Given the description of an element on the screen output the (x, y) to click on. 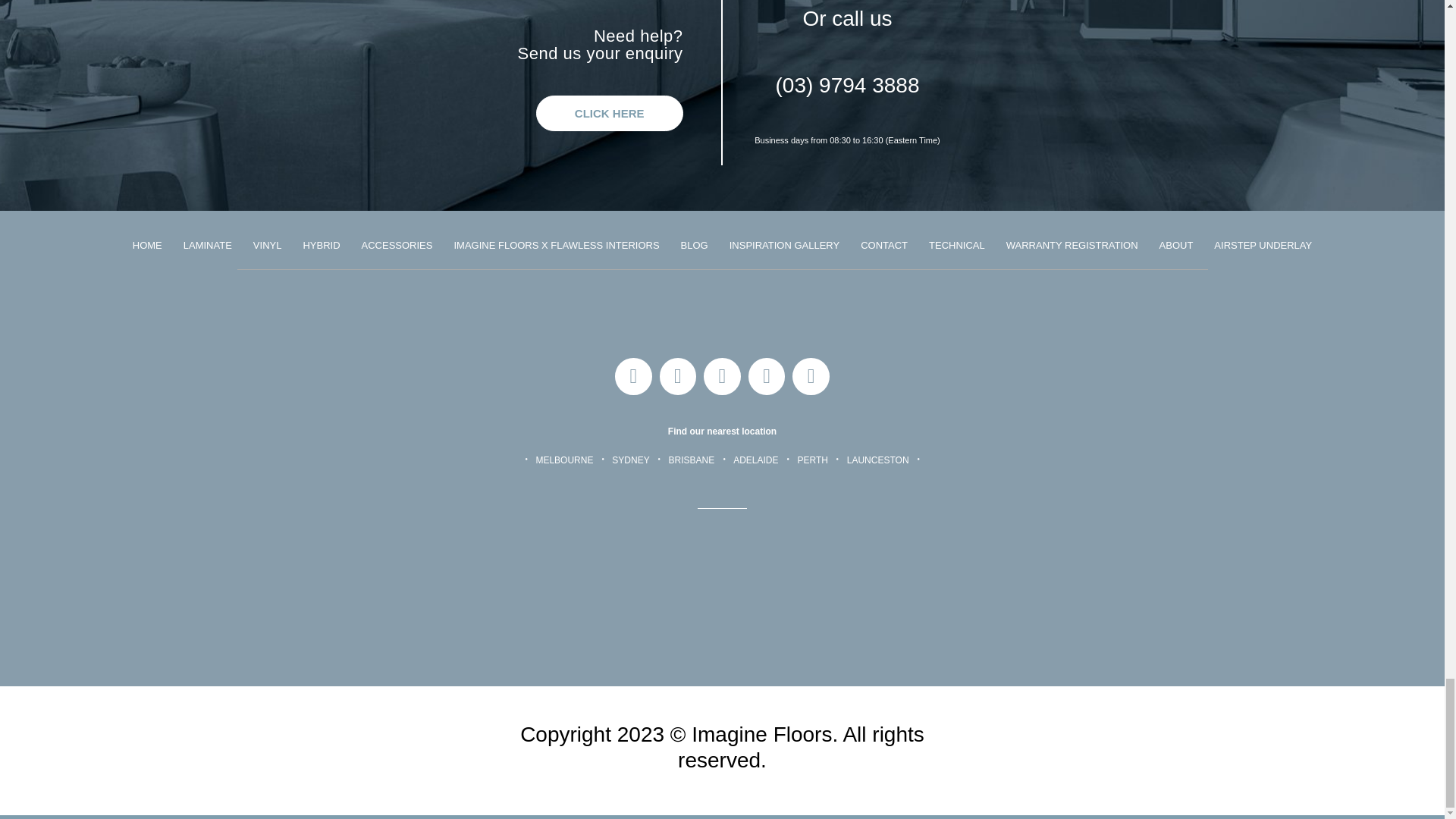
Collective Action green (1203, 750)
